Given the description of an element on the screen output the (x, y) to click on. 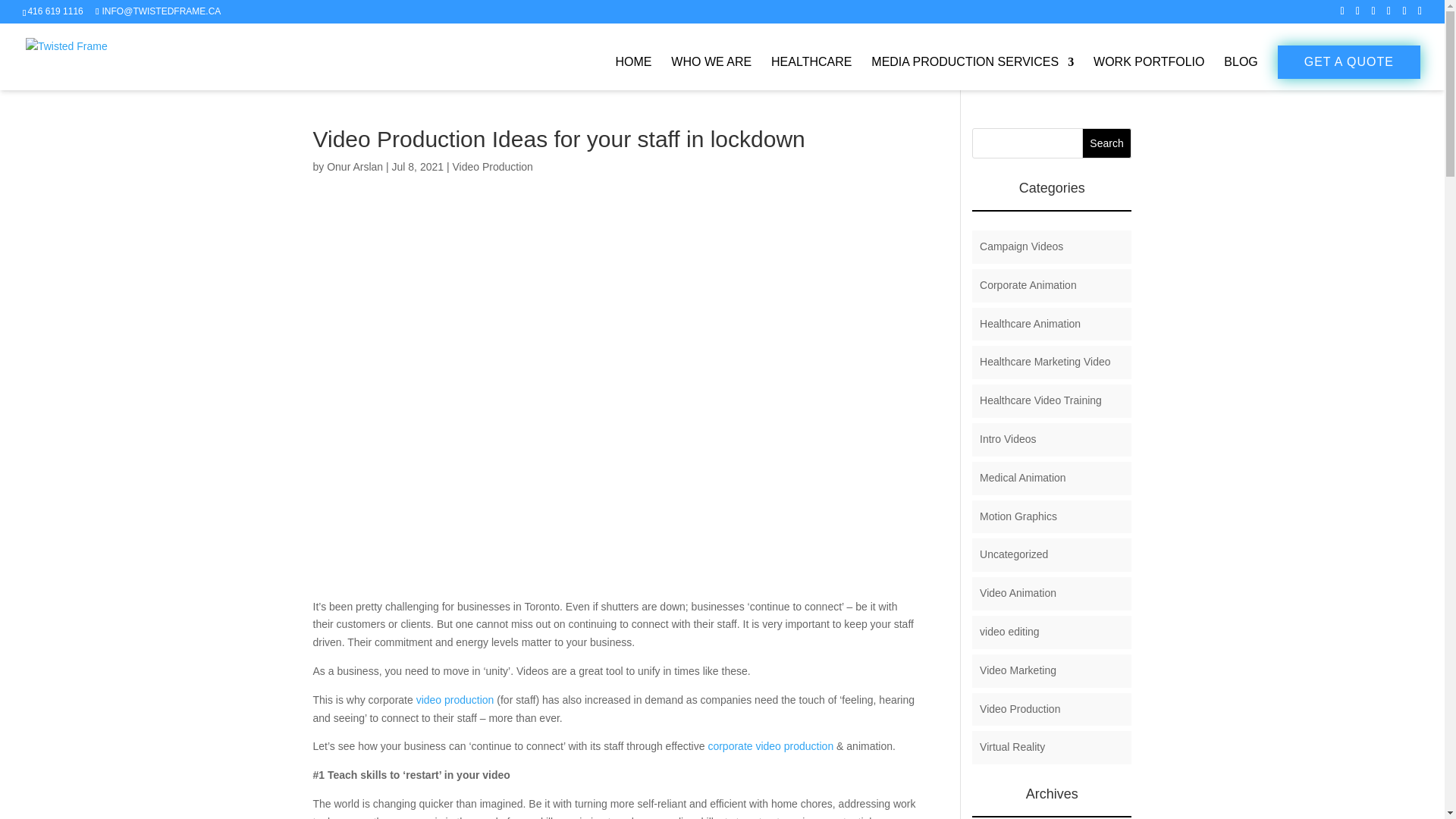
WHO WE ARE (711, 73)
Corporate Animation (1028, 285)
Search (1106, 142)
video production (455, 699)
BLOG (1240, 73)
MEDIA PRODUCTION SERVICES (972, 73)
Onur Arslan (354, 166)
HEALTHCARE (811, 73)
GET A QUOTE (1349, 61)
Video Production (491, 166)
